Given the description of an element on the screen output the (x, y) to click on. 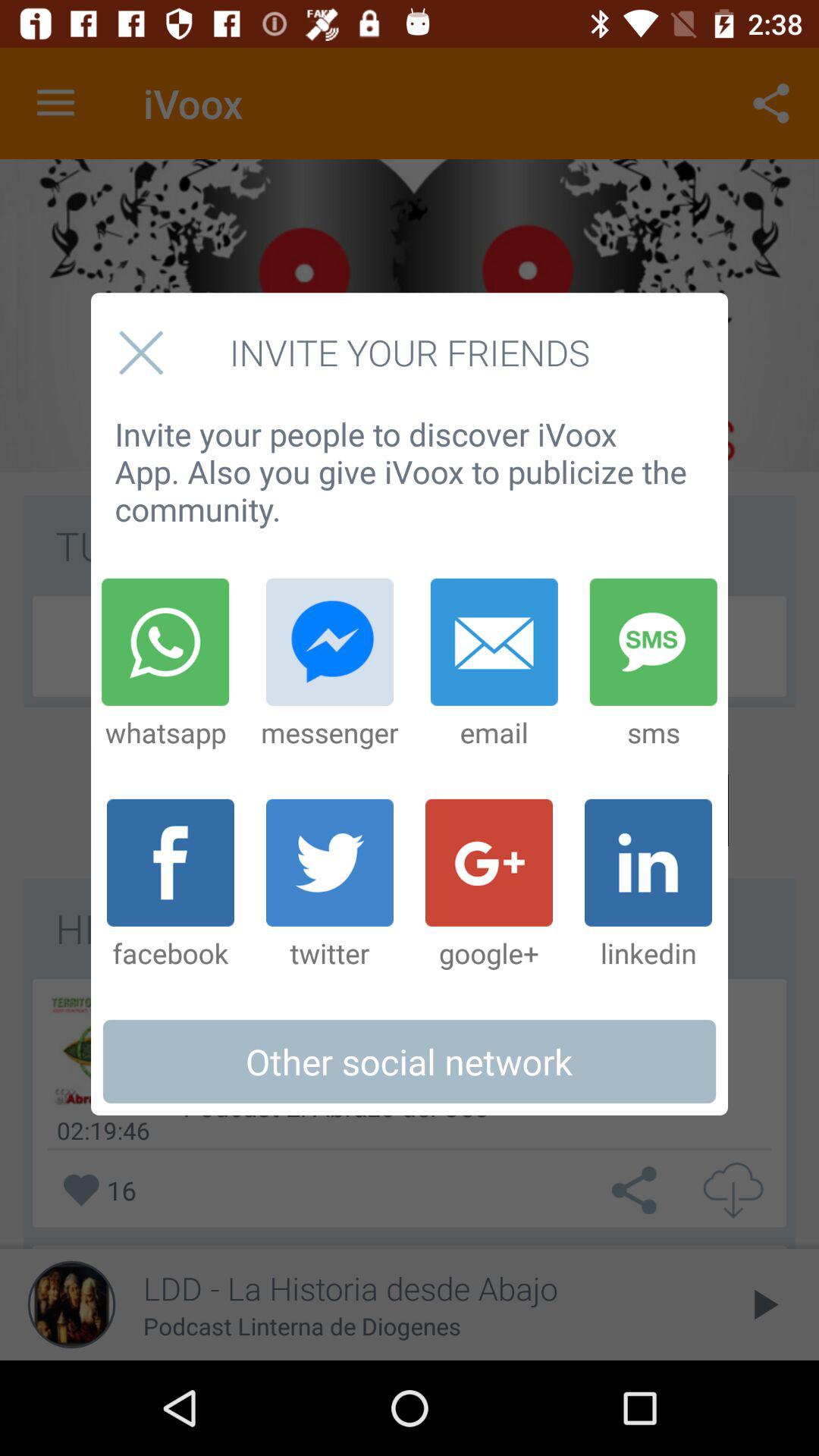
close (141, 352)
